Given the description of an element on the screen output the (x, y) to click on. 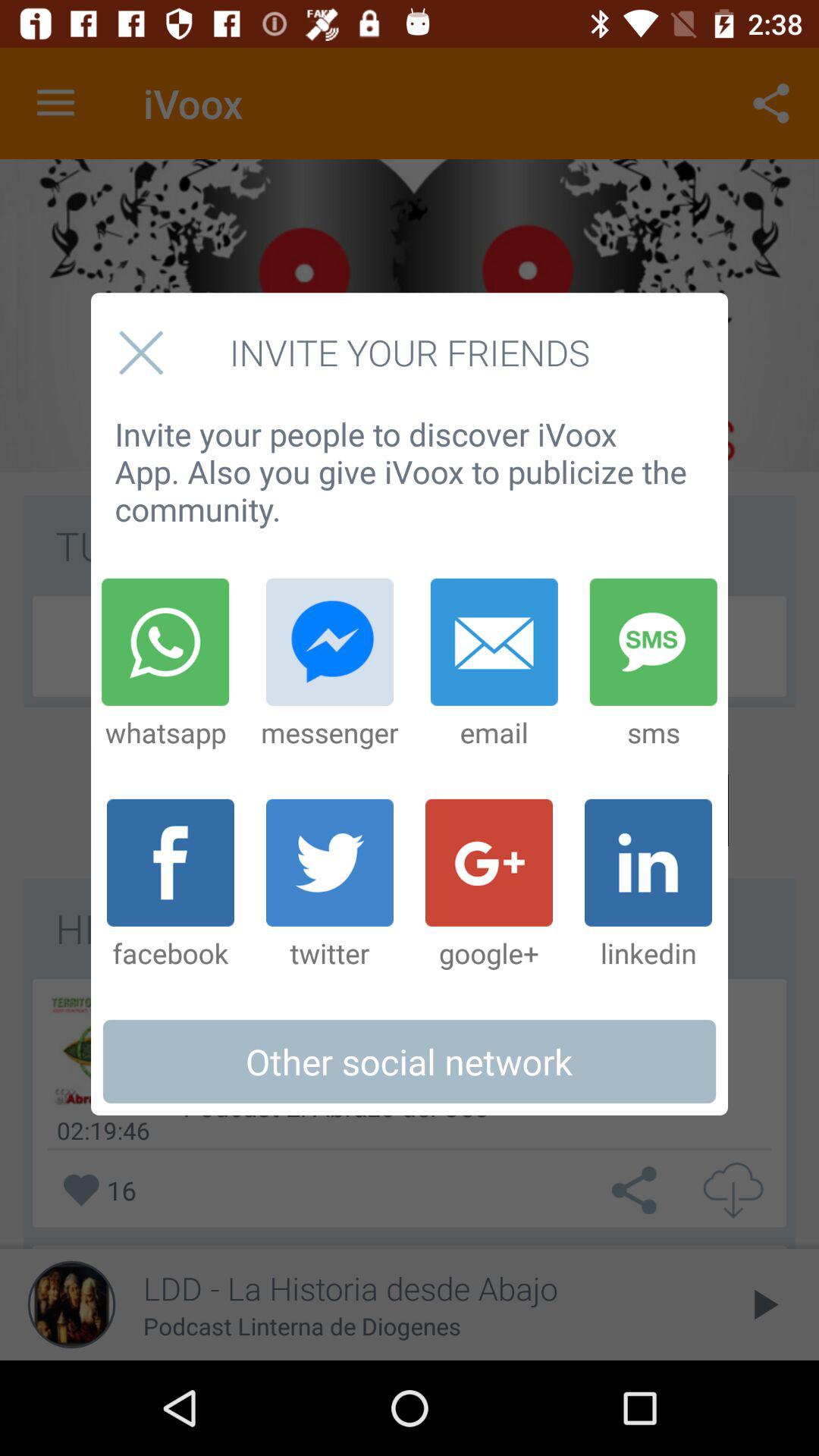
close (141, 352)
